Given the description of an element on the screen output the (x, y) to click on. 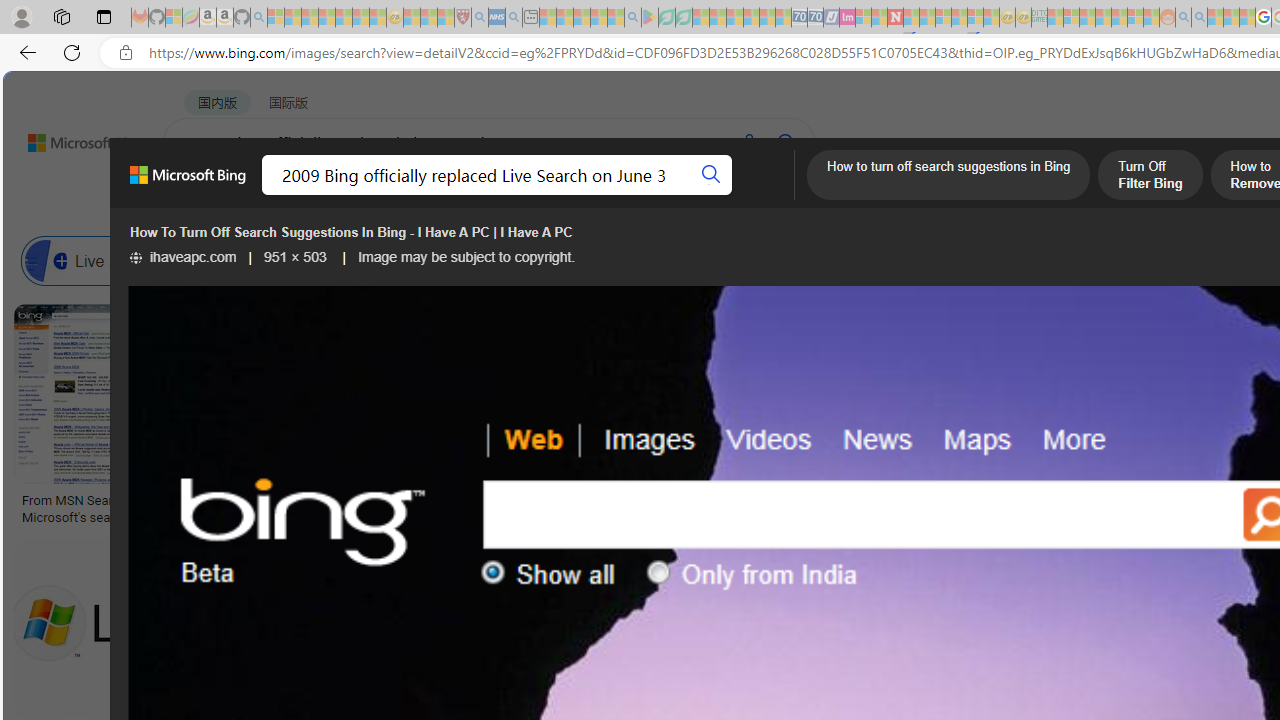
Kinda Frugal - MSN - Sleeping (1119, 17)
ihaveapc.com (183, 257)
Bing Logo and symbol, meaning, history, PNG, brand (418, 508)
MY BING (276, 195)
Bing Picture Search Engine (395, 260)
